Given the description of an element on the screen output the (x, y) to click on. 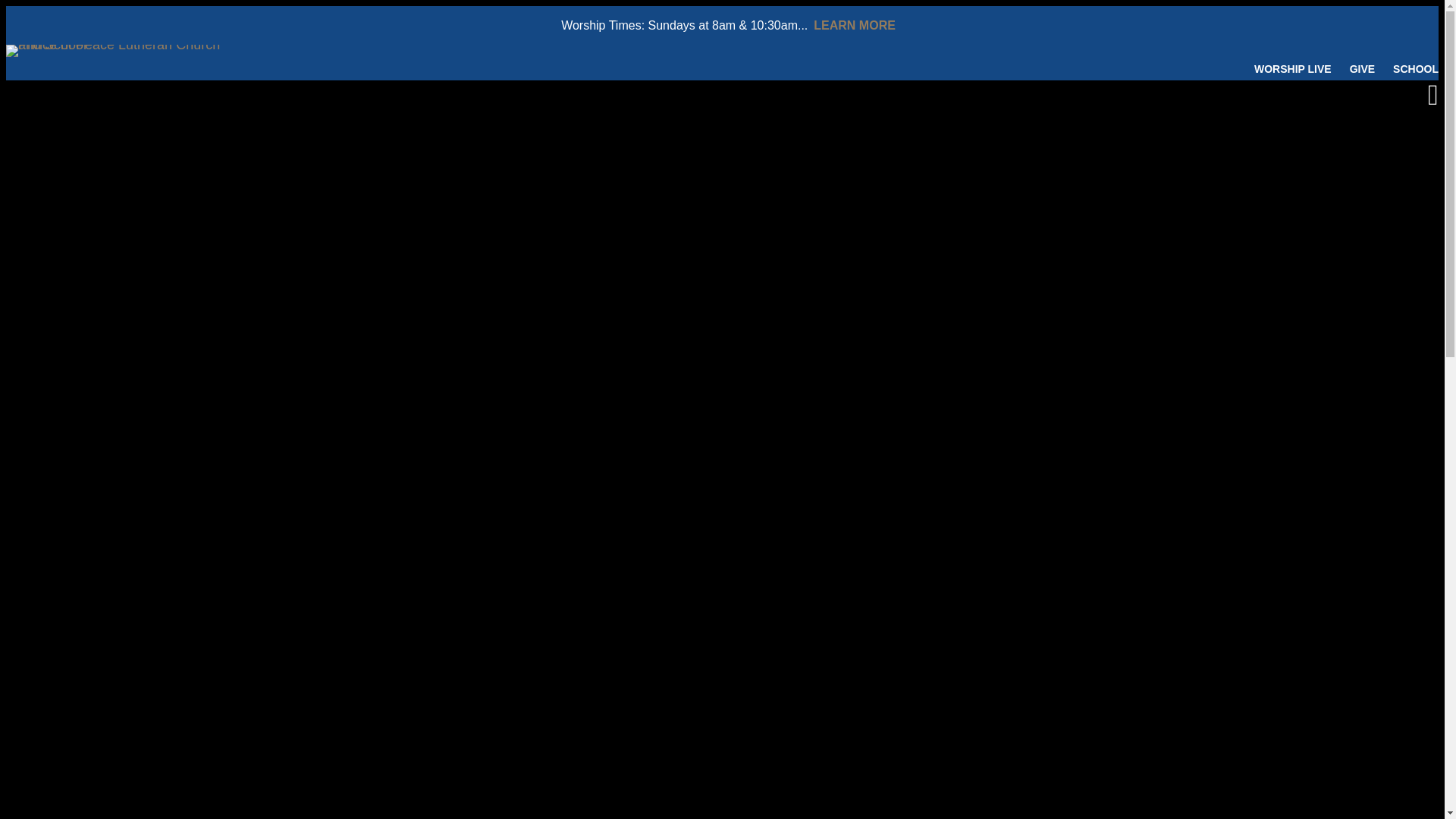
Worship Live (1292, 69)
WORSHIP LIVE (1292, 69)
GIVE (1361, 69)
Give (1361, 69)
